Given the description of an element on the screen output the (x, y) to click on. 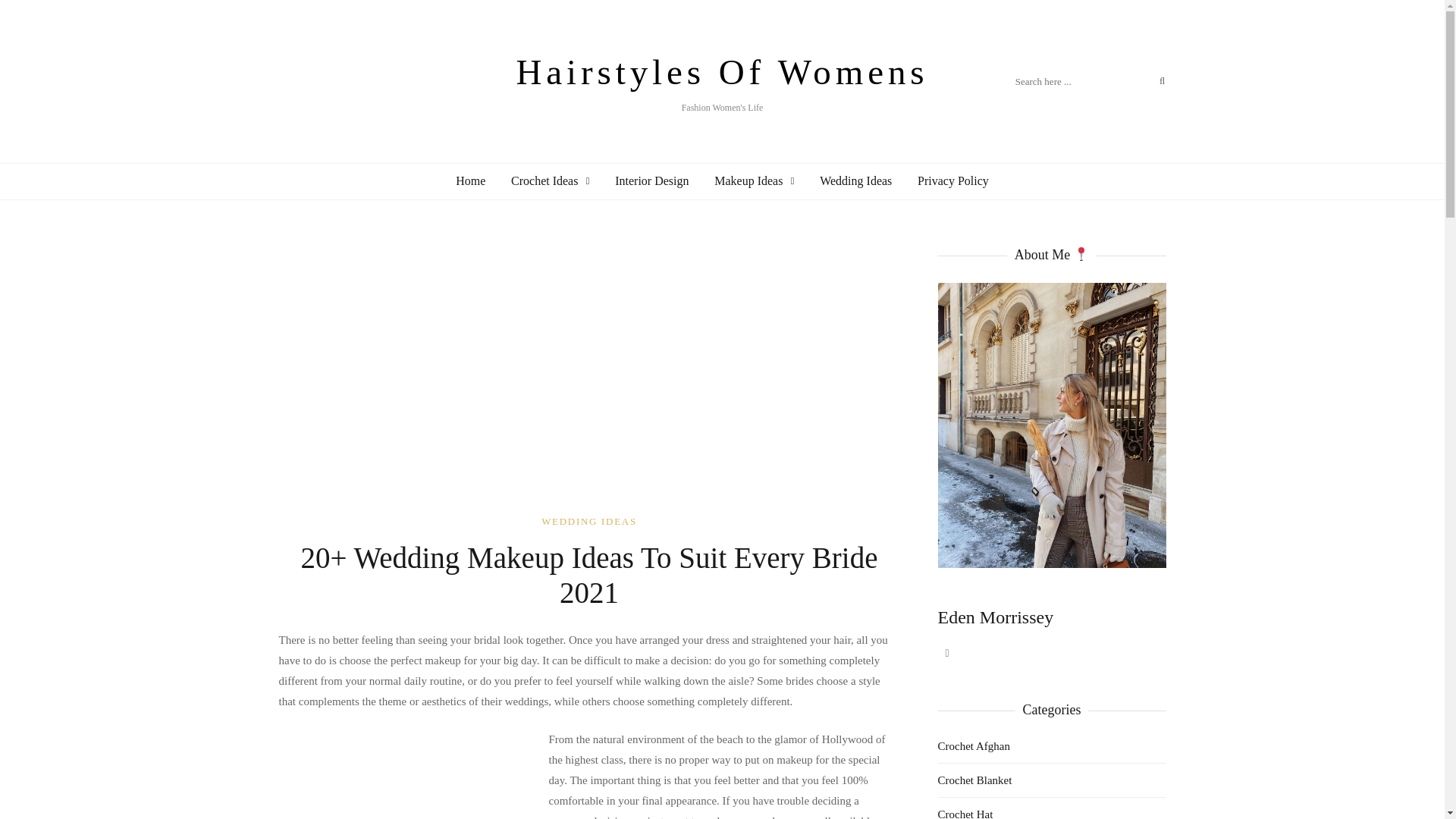
Home (469, 180)
Interior Design (651, 180)
Privacy Policy (952, 180)
Makeup Ideas (753, 180)
Advertisement (721, 80)
Crochet Ideas (591, 377)
WEDDING IDEAS (550, 180)
Advertisement (589, 521)
Wedding Ideas (406, 774)
